Given the description of an element on the screen output the (x, y) to click on. 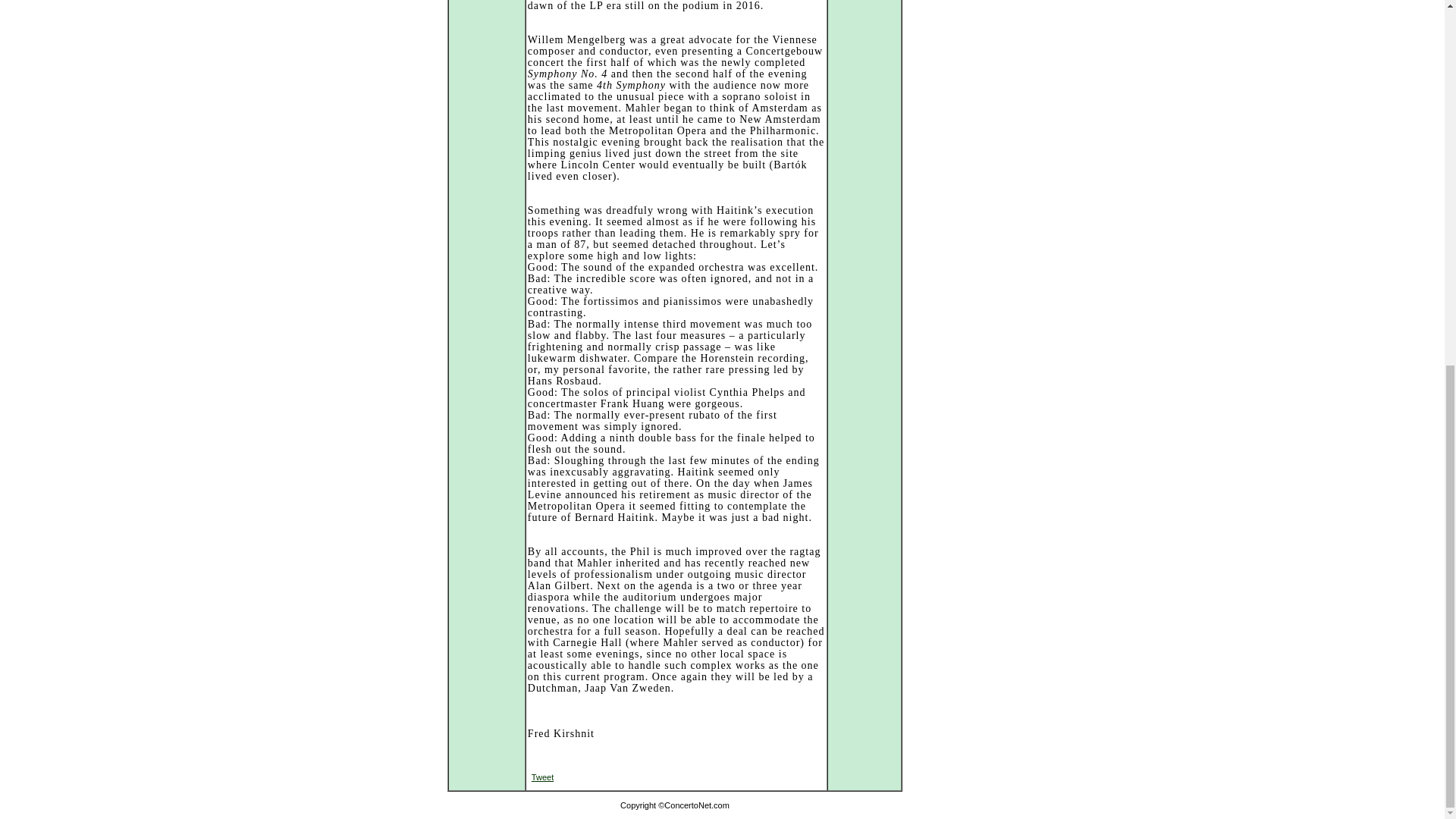
Tweet (542, 777)
